Given the description of an element on the screen output the (x, y) to click on. 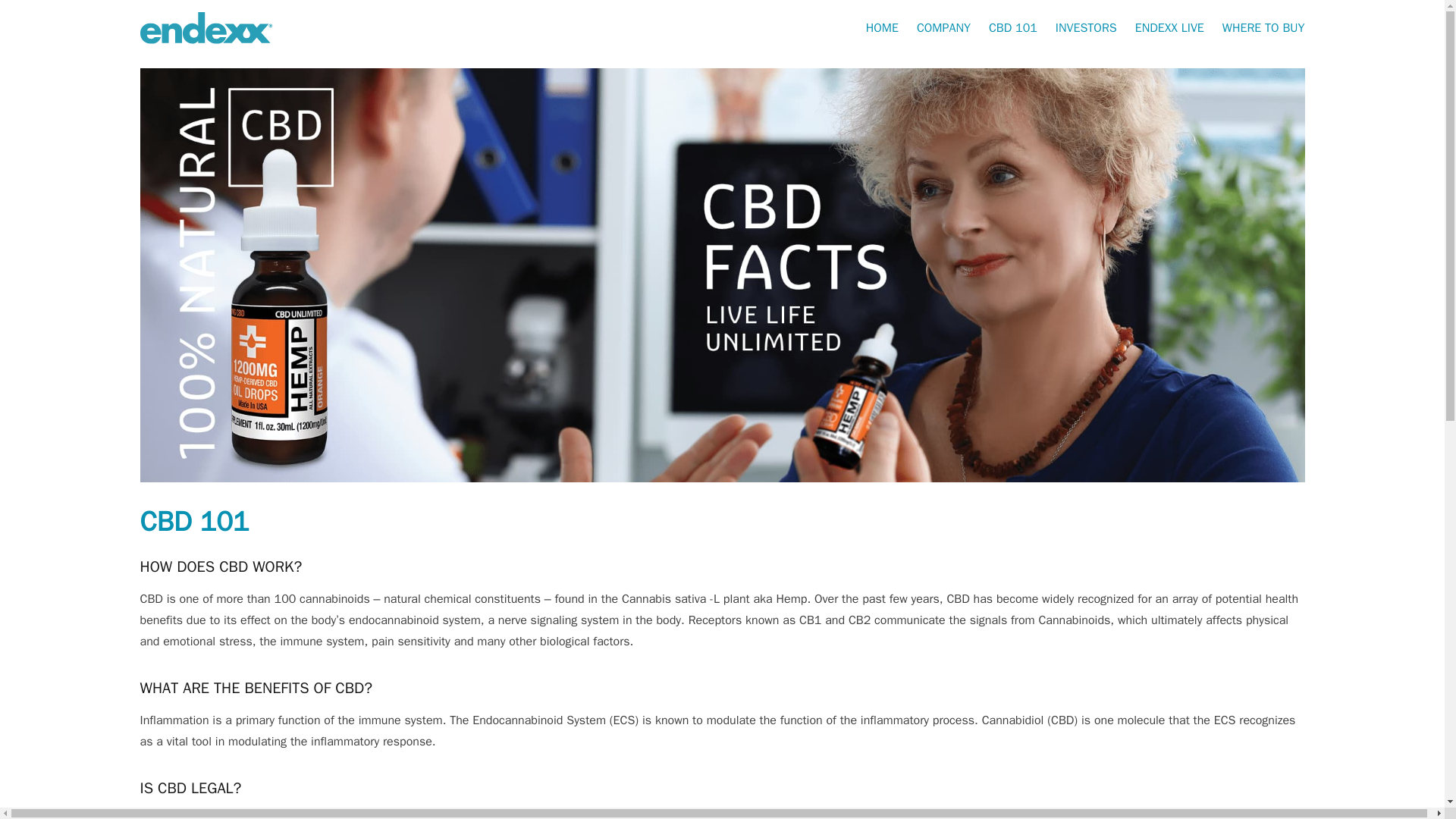
WHERE TO BUY (1263, 28)
INVESTORS (1085, 28)
ENDEXX LIVE (1169, 28)
CBD 101 (1012, 28)
HOME (882, 28)
COMPANY (944, 28)
